Given the description of an element on the screen output the (x, y) to click on. 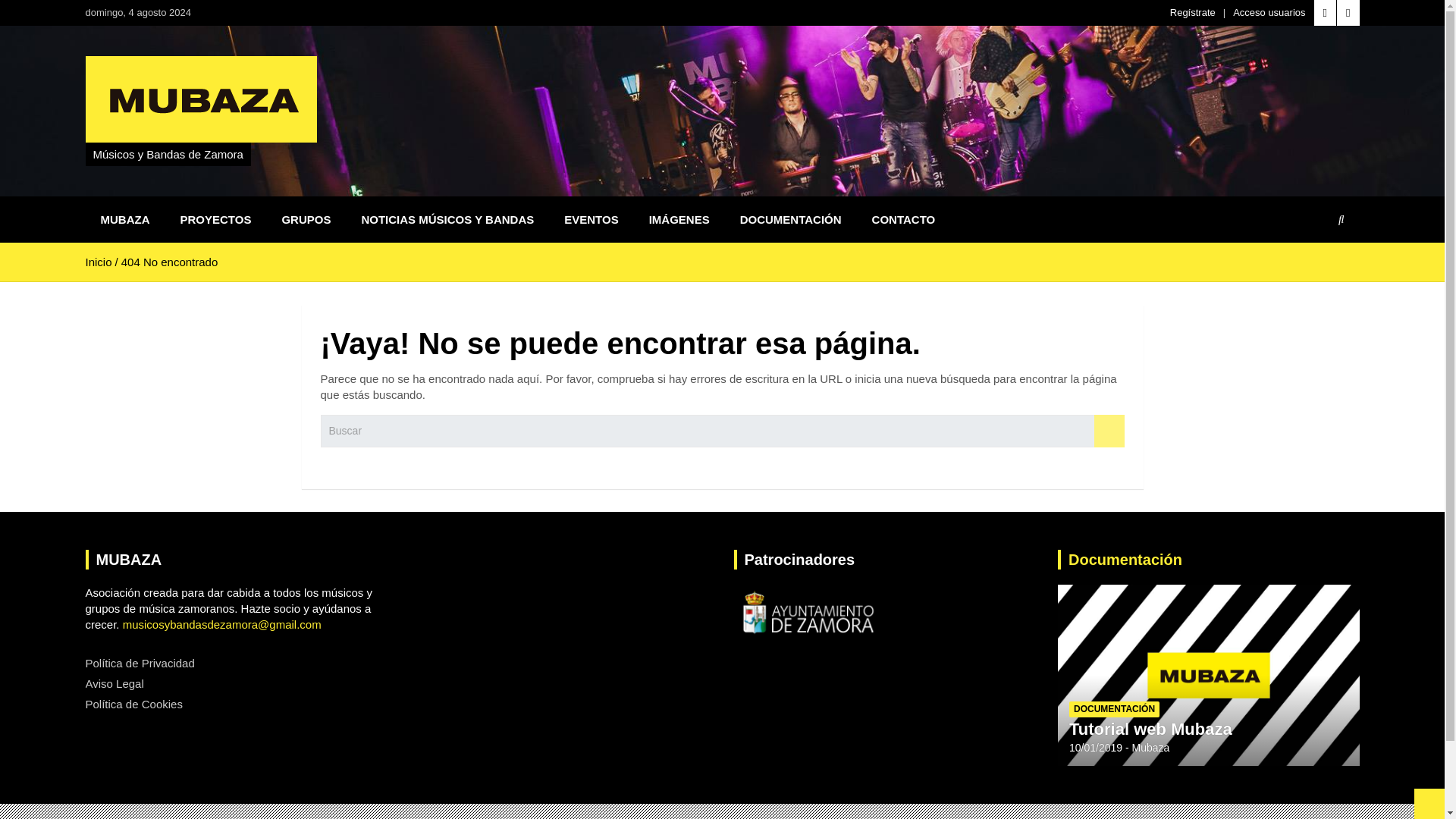
EVENTOS (590, 219)
Acceso usuarios (1268, 12)
Buscar (1108, 430)
Mubaza (1151, 747)
Tutorial web Mubaza (1095, 747)
PROYECTOS (215, 219)
Inicio (98, 261)
Aviso Legal (113, 683)
MUBAZA (124, 219)
GRUPOS (306, 219)
